Given the description of an element on the screen output the (x, y) to click on. 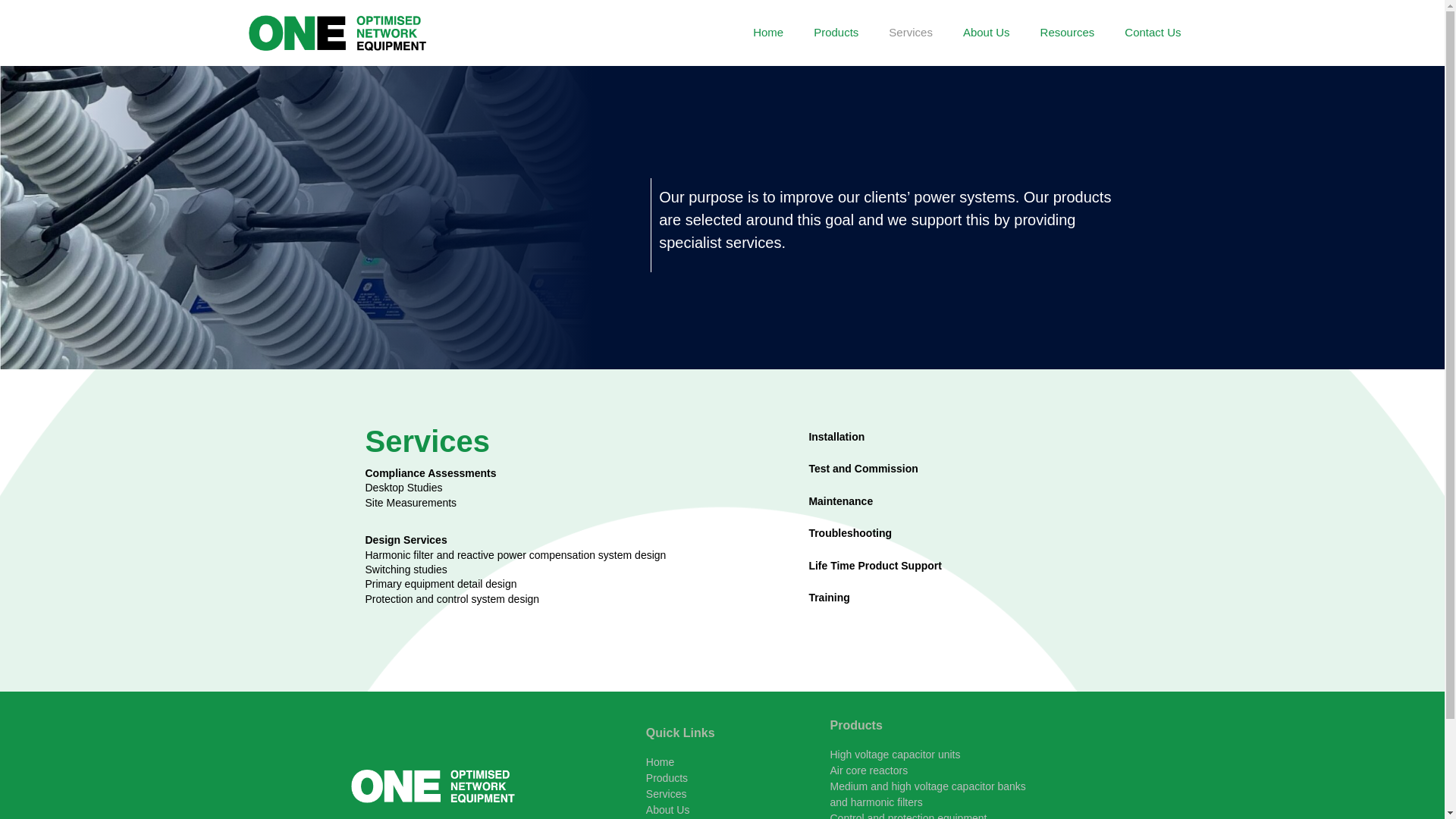
Products Element type: text (666, 777)
Contact Us Element type: text (1152, 32)
About Us Element type: text (668, 809)
High voltage capacitor units Element type: text (894, 754)
Home Element type: text (660, 762)
Air core reactors Element type: text (868, 770)
Medium and high voltage capacitor banks
and harmonic filters Element type: text (927, 794)
Services Element type: text (910, 32)
About Us Element type: text (986, 32)
Products Element type: text (835, 32)
Services Element type: text (666, 793)
Home Element type: text (767, 32)
Resources Element type: text (1067, 32)
